Given the description of an element on the screen output the (x, y) to click on. 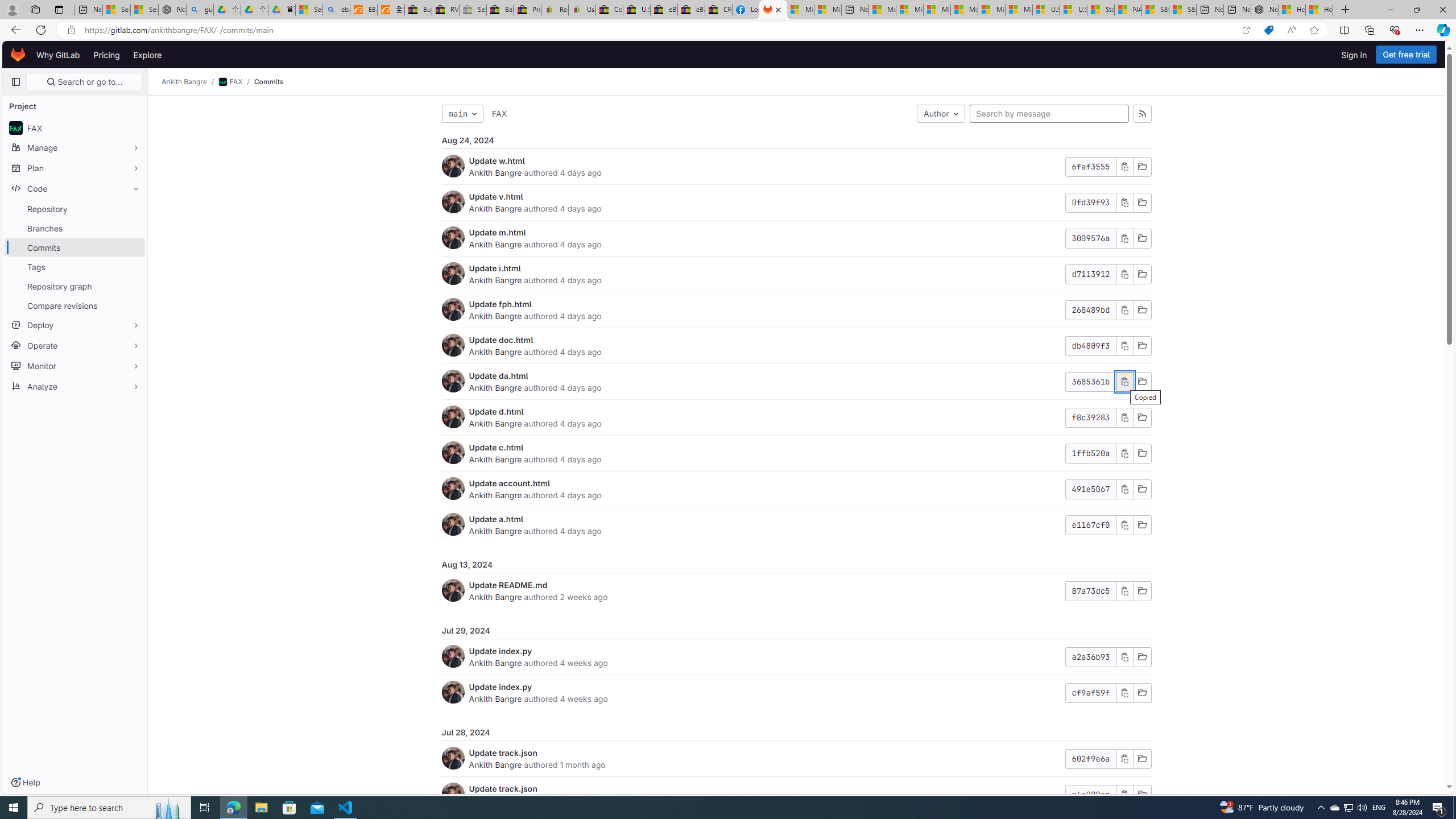
Shopping in Microsoft Edge (1268, 29)
Why GitLab (58, 54)
Update da.html (498, 375)
Homepage (17, 54)
Update doc.html (500, 339)
Update w.htmlAnkith Bangre authored 4 days ago6faf3555 (796, 167)
Branches (74, 227)
